Given the description of an element on the screen output the (x, y) to click on. 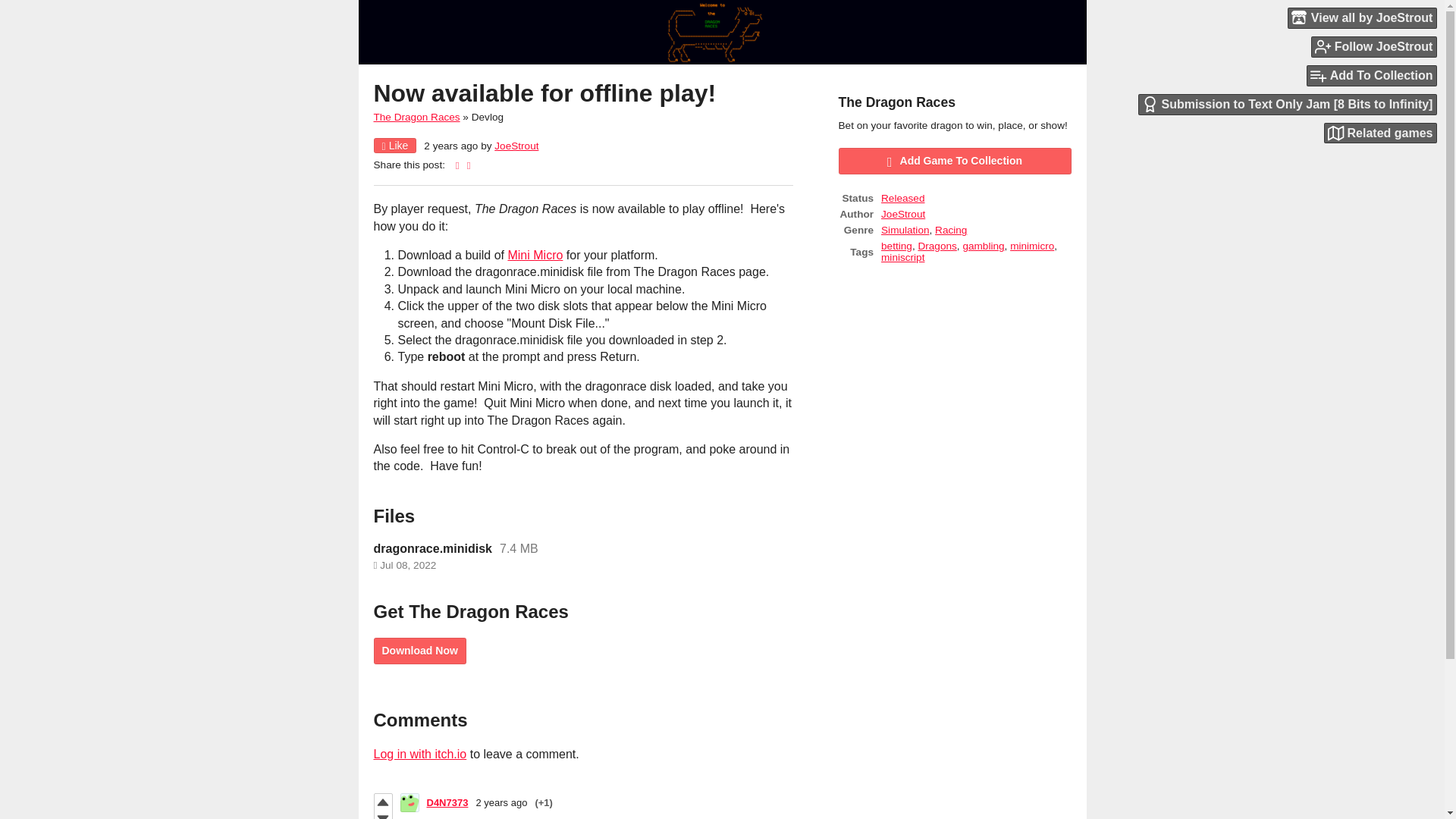
Follow JoeStrout (1374, 46)
2 years ago (501, 802)
Mini Micro (534, 254)
Dragons (936, 245)
JoeStrout (516, 145)
Vote up (382, 801)
2022-07-08 13:30:08 (450, 145)
Add To Collection (1371, 75)
Released (902, 197)
Like (394, 145)
